Given the description of an element on the screen output the (x, y) to click on. 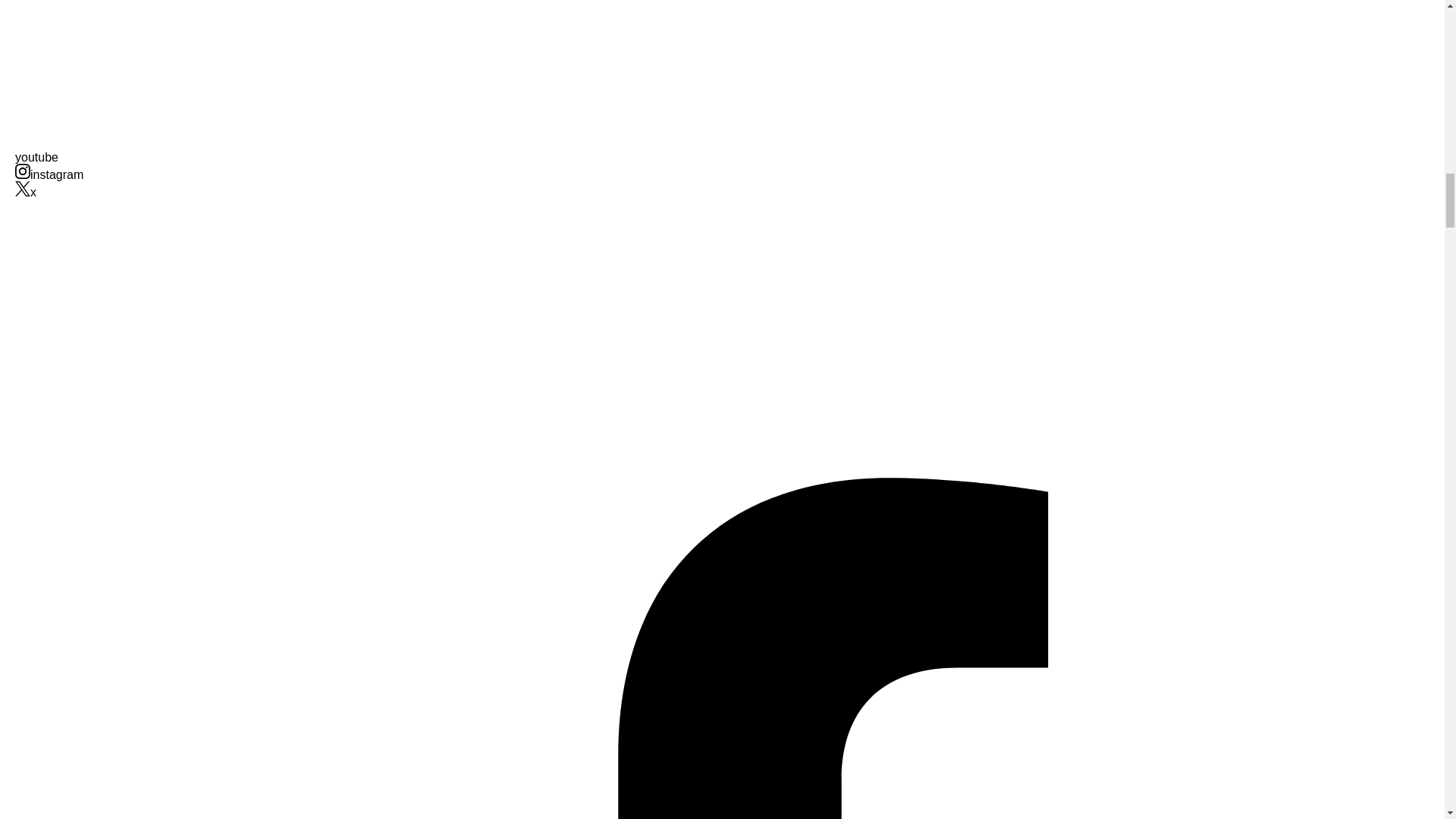
Twitter Navigation Iconx (25, 192)
Instagram Navigation Icon (22, 171)
Twitter Navigation Icon (22, 188)
Instagram Navigation Iconinstagram (48, 174)
